Given the description of an element on the screen output the (x, y) to click on. 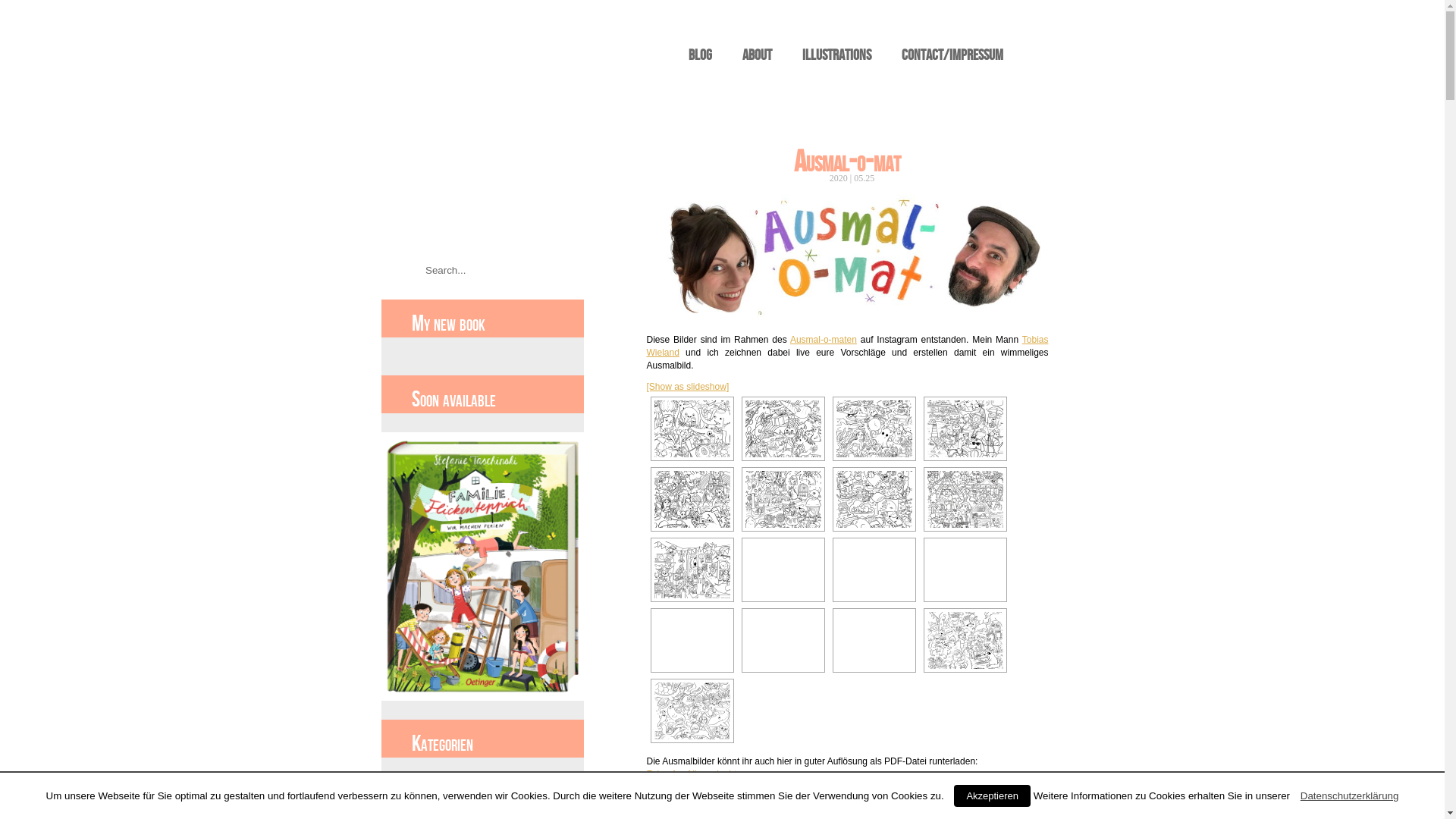
Allgemein Element type: text (409, 784)
Unbenanntes Projekt Element type: hover (874, 640)
Contact/Impressum Element type: text (992, 53)
53cb4938-d187-4397-b370-919ef9d3b003 Element type: hover (692, 496)
  Element type: hover (689, 640)
[Show as slideshow] Element type: text (687, 384)
  Element type: hover (871, 499)
213477b5-d9bc-4460-b274-cb36bc5ca8d9 Element type: hover (965, 499)
  Element type: hover (780, 426)
  Element type: hover (871, 569)
Tobias Wieland Element type: text (847, 343)
About Element type: text (767, 53)
Blog Element type: text (703, 53)
  Element type: hover (780, 569)
Unbenanntes Projekt Element type: hover (965, 640)
Illustrations Element type: text (858, 53)
0d724c13-9509-4be5-b6ce-d407813141c1 Element type: hover (783, 496)
  Element type: hover (962, 569)
  Element type: hover (689, 569)
ausmalomat3 Element type: hover (874, 426)
  Element type: hover (871, 640)
c408d99a-a208-4c23-a28c-26c49414f744 Element type: hover (692, 640)
  Element type: hover (780, 640)
  Element type: hover (689, 496)
ausmalomat4 Element type: hover (965, 426)
Unbenanntes Projekt Element type: hover (692, 710)
6fee1521-2b6c-4b59-92a1-b6d329af1846 Element type: hover (692, 569)
  Element type: hover (871, 426)
  Element type: hover (689, 426)
  Element type: hover (962, 426)
ausmalomat-folge-7 Element type: hover (874, 499)
Akzeptieren Element type: text (991, 795)
  Element type: hover (780, 496)
cd4f6d7a-8cb2-4226-8f50-0b415a82466f Element type: hover (783, 569)
aa1ab387-138e-409e-b32b-19a575aa85bf Element type: hover (965, 569)
ausmalomat2 Element type: hover (783, 426)
  Element type: hover (689, 710)
Ausmal-o-maten Element type: text (823, 337)
Ausmal-o-mat Element type: text (847, 160)
1feccdad-b07e-4f16-aad4-0e1b44b2725a Element type: hover (874, 569)
Illustration Element type: text (411, 803)
ausmalomat1 Element type: hover (692, 426)
  Element type: hover (962, 499)
b374730d-f2a4-4d07-bd40-14d7833b4e57 Element type: hover (783, 640)
  Element type: hover (962, 640)
